Given the description of an element on the screen output the (x, y) to click on. 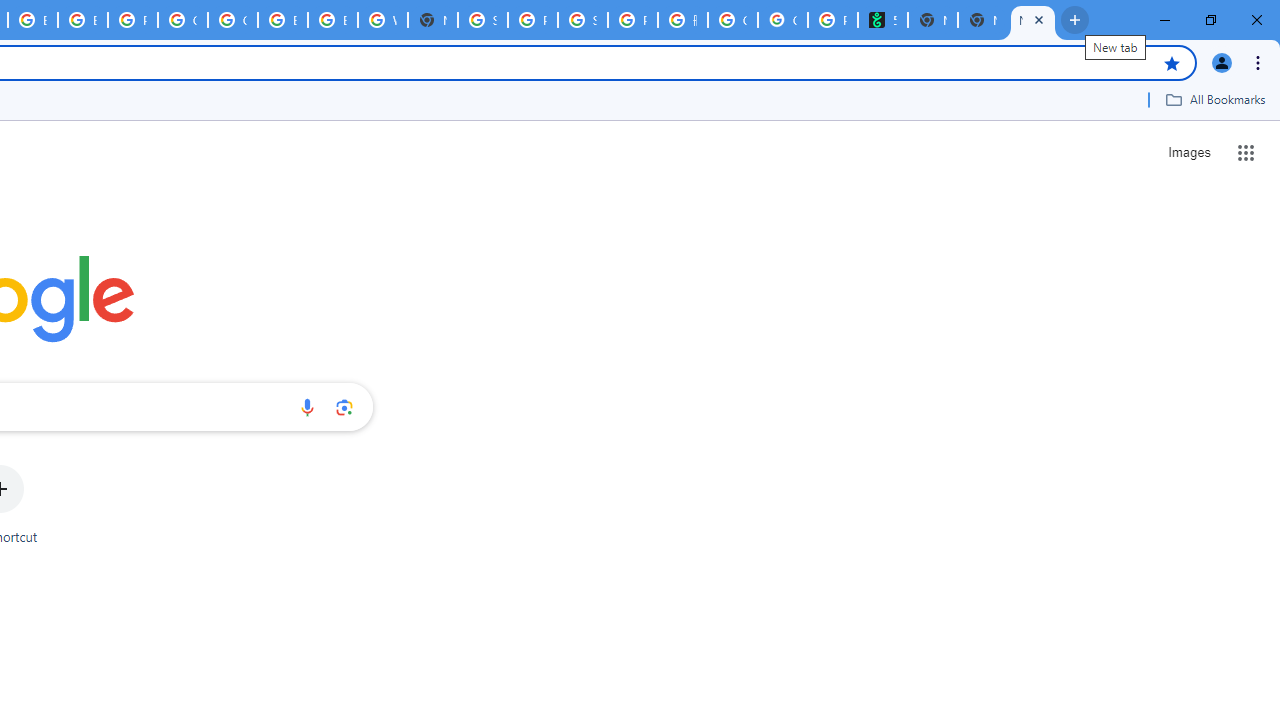
New Tab (433, 20)
Sign in - Google Accounts (483, 20)
New Tab (982, 20)
Browse Chrome as a guest - Computer - Google Chrome Help (283, 20)
